Given the description of an element on the screen output the (x, y) to click on. 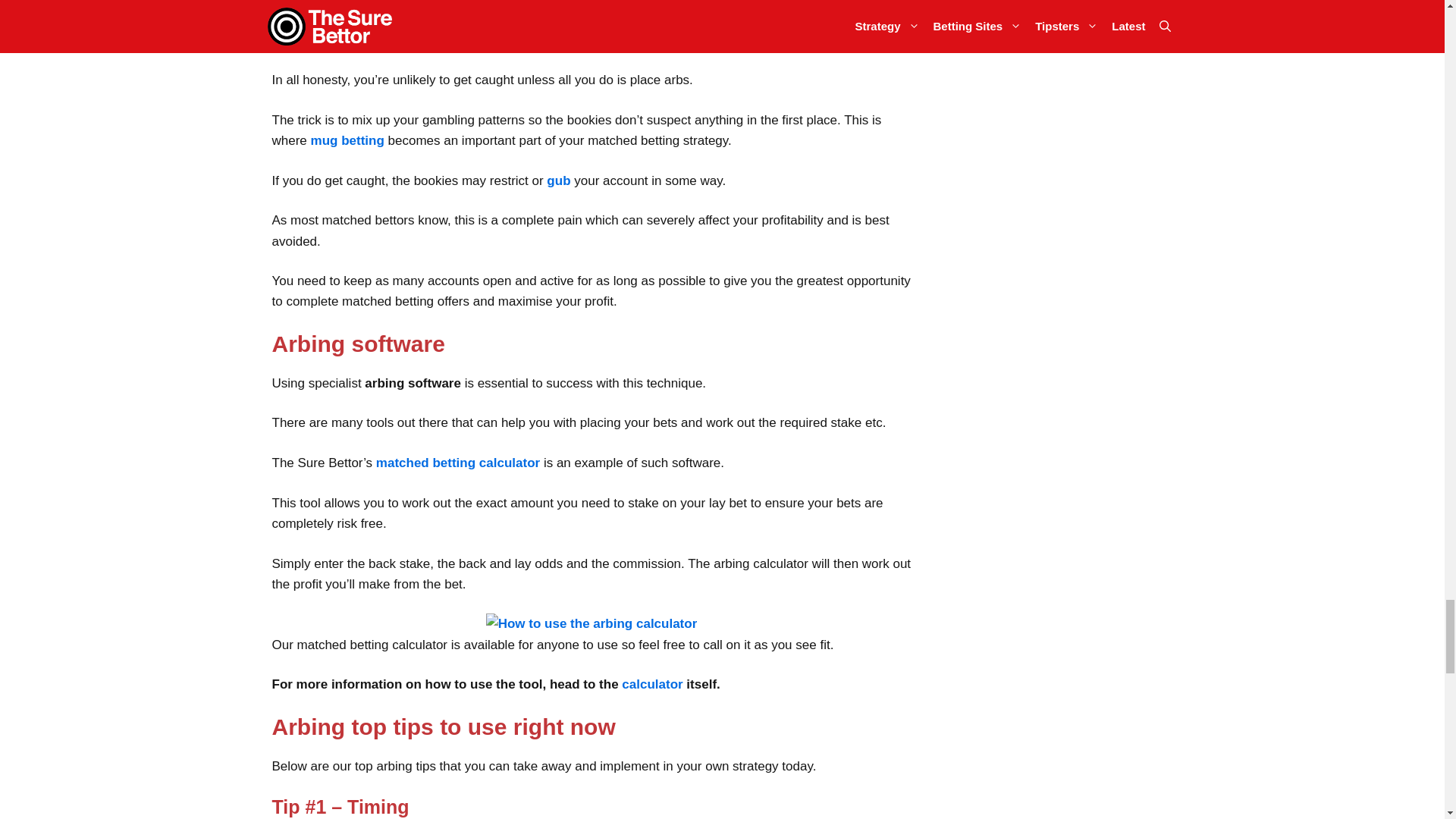
gub (558, 180)
matched betting calculator (457, 462)
mug betting (347, 140)
